Given the description of an element on the screen output the (x, y) to click on. 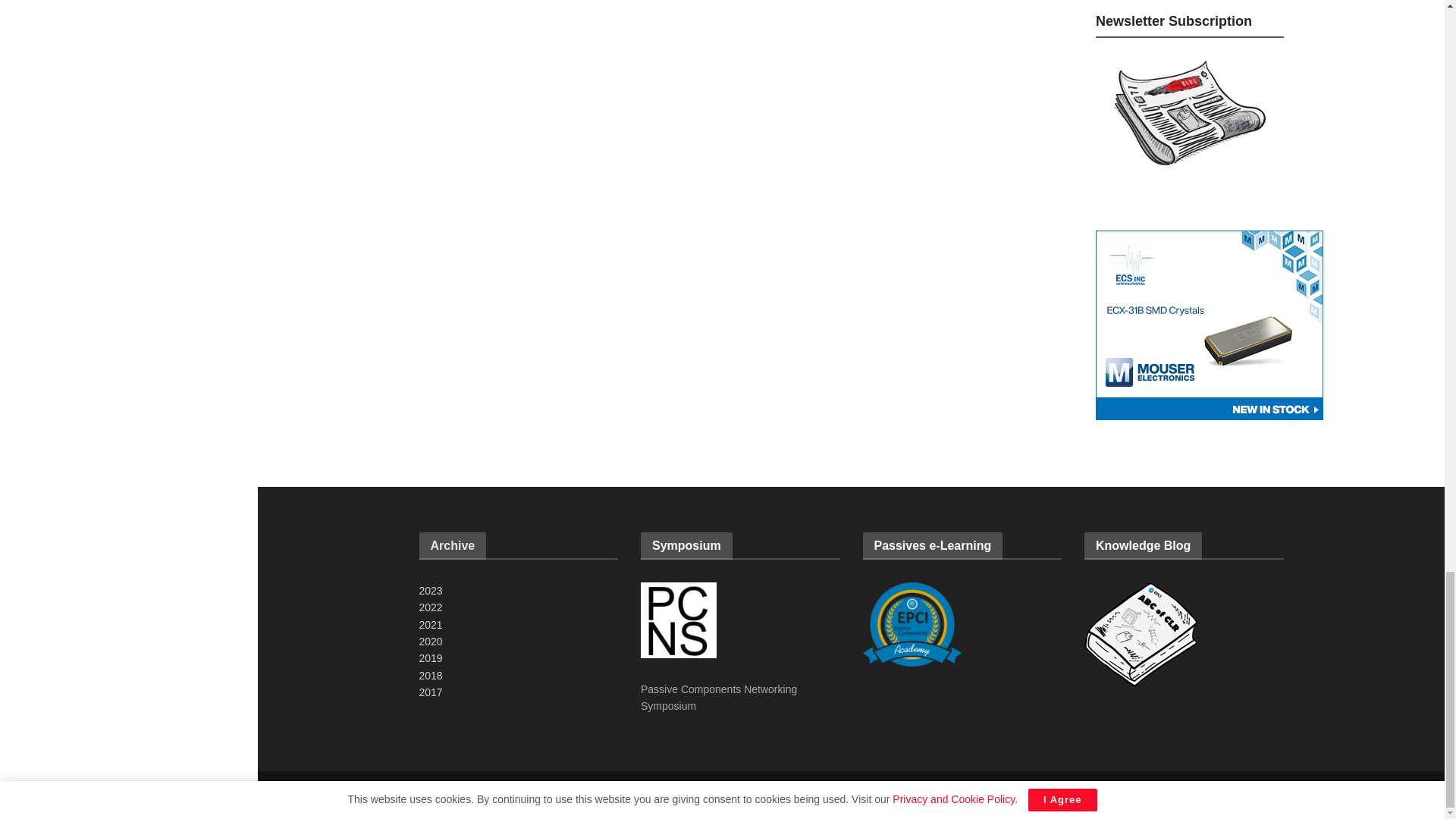
advertisement (1209, 325)
European Passive Components Institute (438, 794)
